Given the description of an element on the screen output the (x, y) to click on. 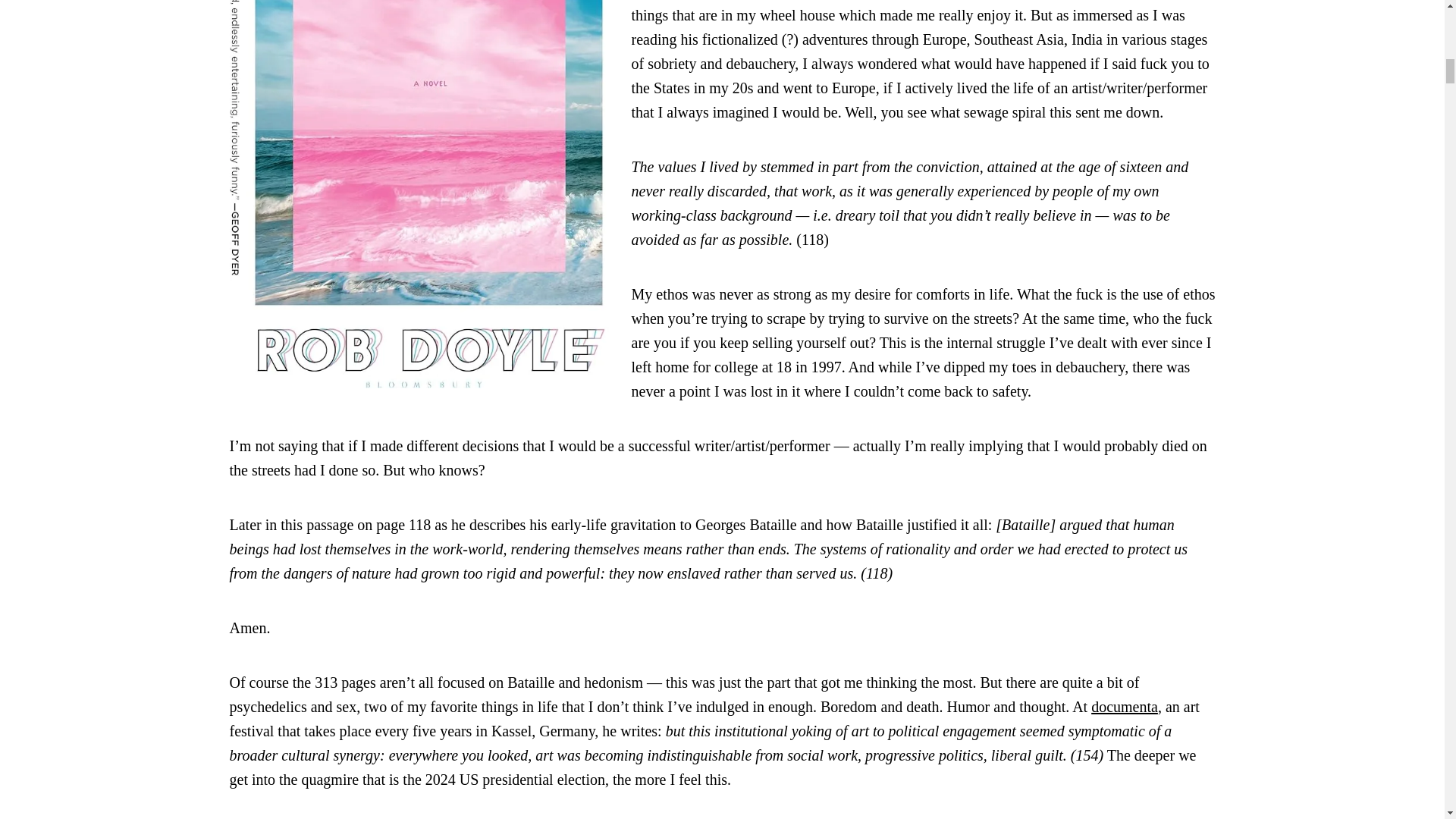
documenta (1123, 706)
